Given the description of an element on the screen output the (x, y) to click on. 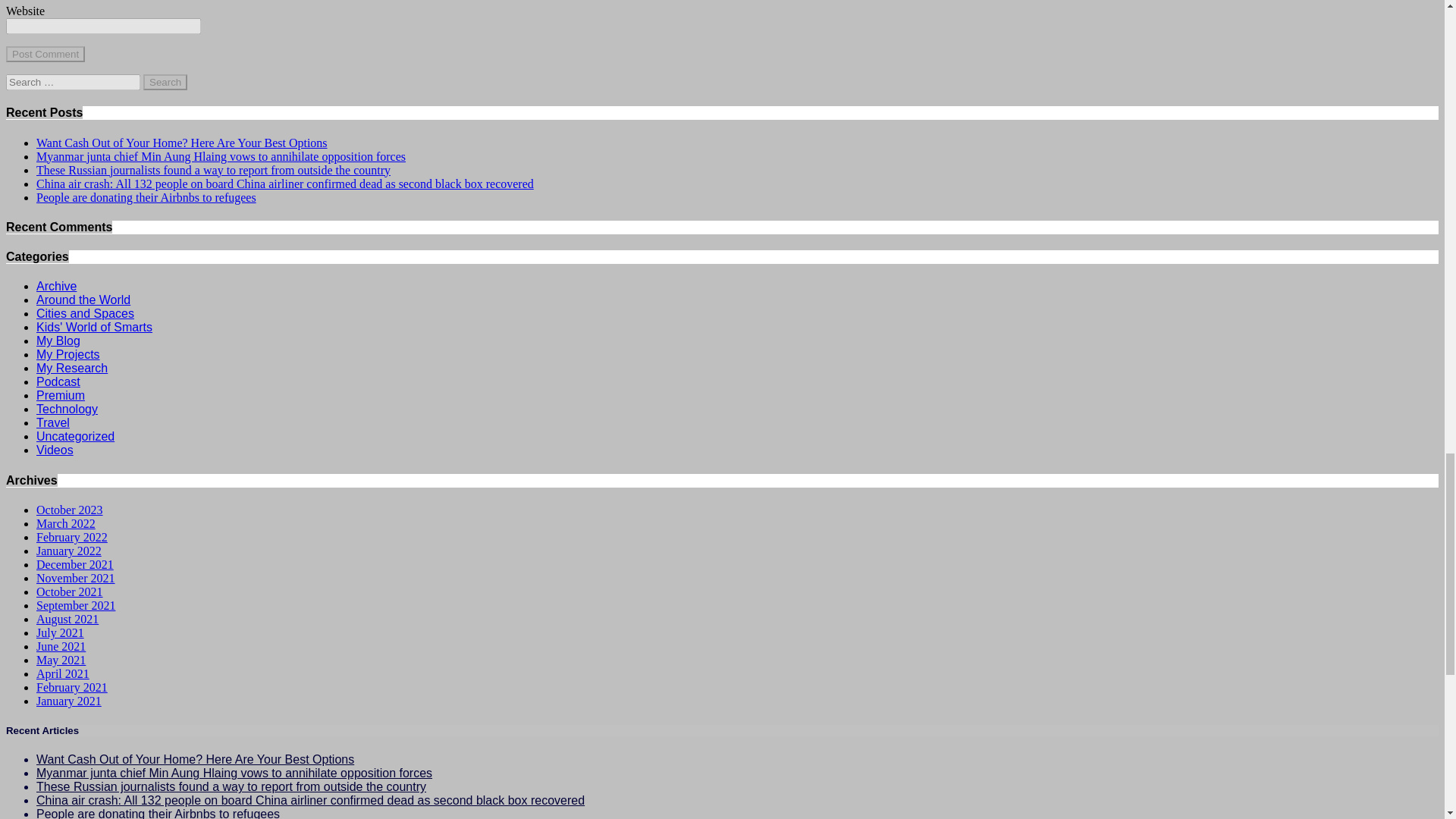
Search (164, 82)
Post Comment (44, 53)
Search (164, 82)
Post Comment (44, 53)
Search (164, 82)
